Given the description of an element on the screen output the (x, y) to click on. 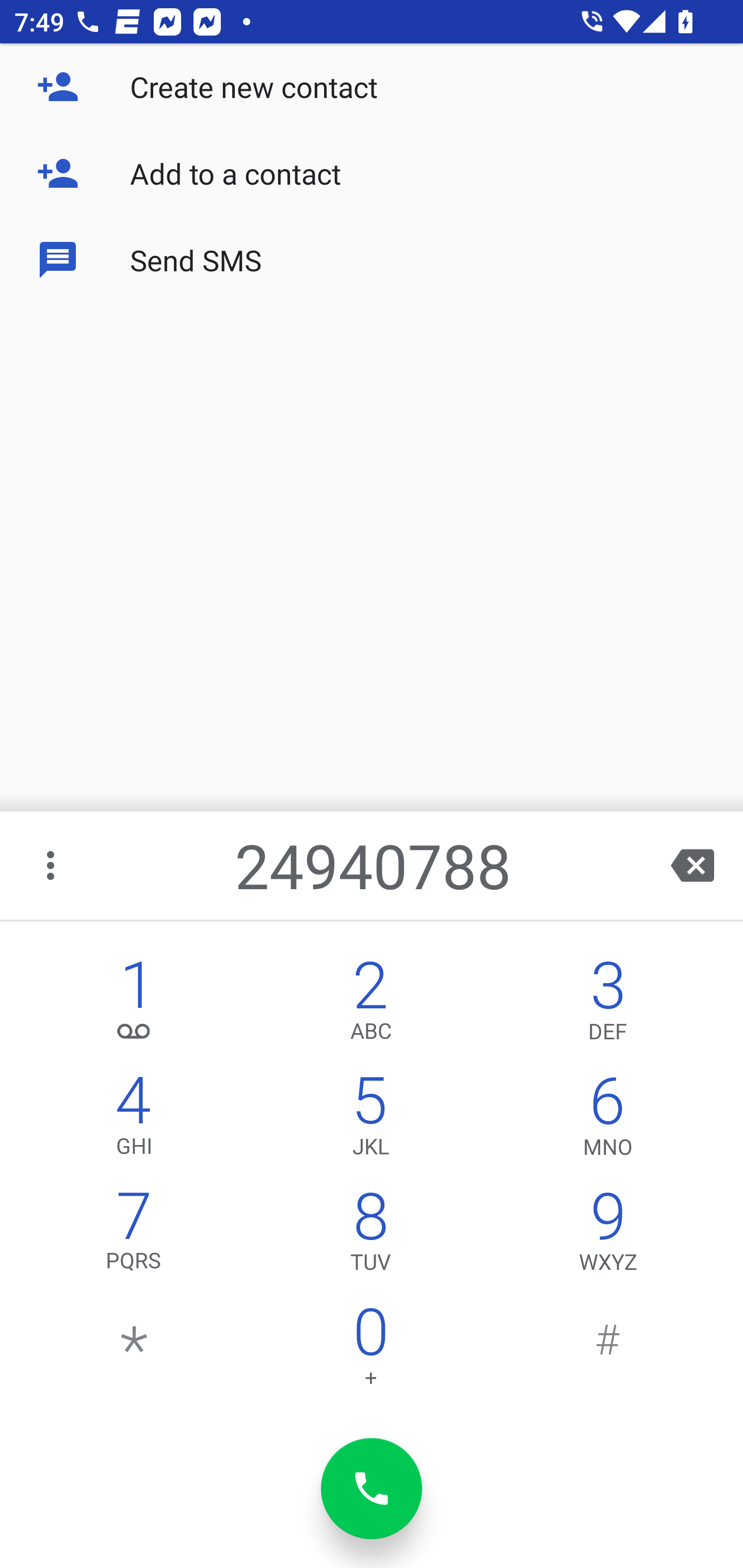
Create new contact (371, 86)
Add to a contact (371, 173)
Send SMS (371, 259)
24940788 (372, 865)
backspace (692, 865)
More options (52, 865)
1, 1 (133, 1005)
2,ABC 2 ABC (370, 1005)
3,DEF 3 DEF (607, 1005)
4,GHI 4 GHI (133, 1120)
5,JKL 5 JKL (370, 1120)
6,MNO 6 MNO (607, 1120)
7,PQRS 7 PQRS (133, 1235)
8,TUV 8 TUV (370, 1235)
9,WXYZ 9 WXYZ (607, 1235)
* (133, 1351)
0 0 + (370, 1351)
# (607, 1351)
dial (371, 1488)
